Given the description of an element on the screen output the (x, y) to click on. 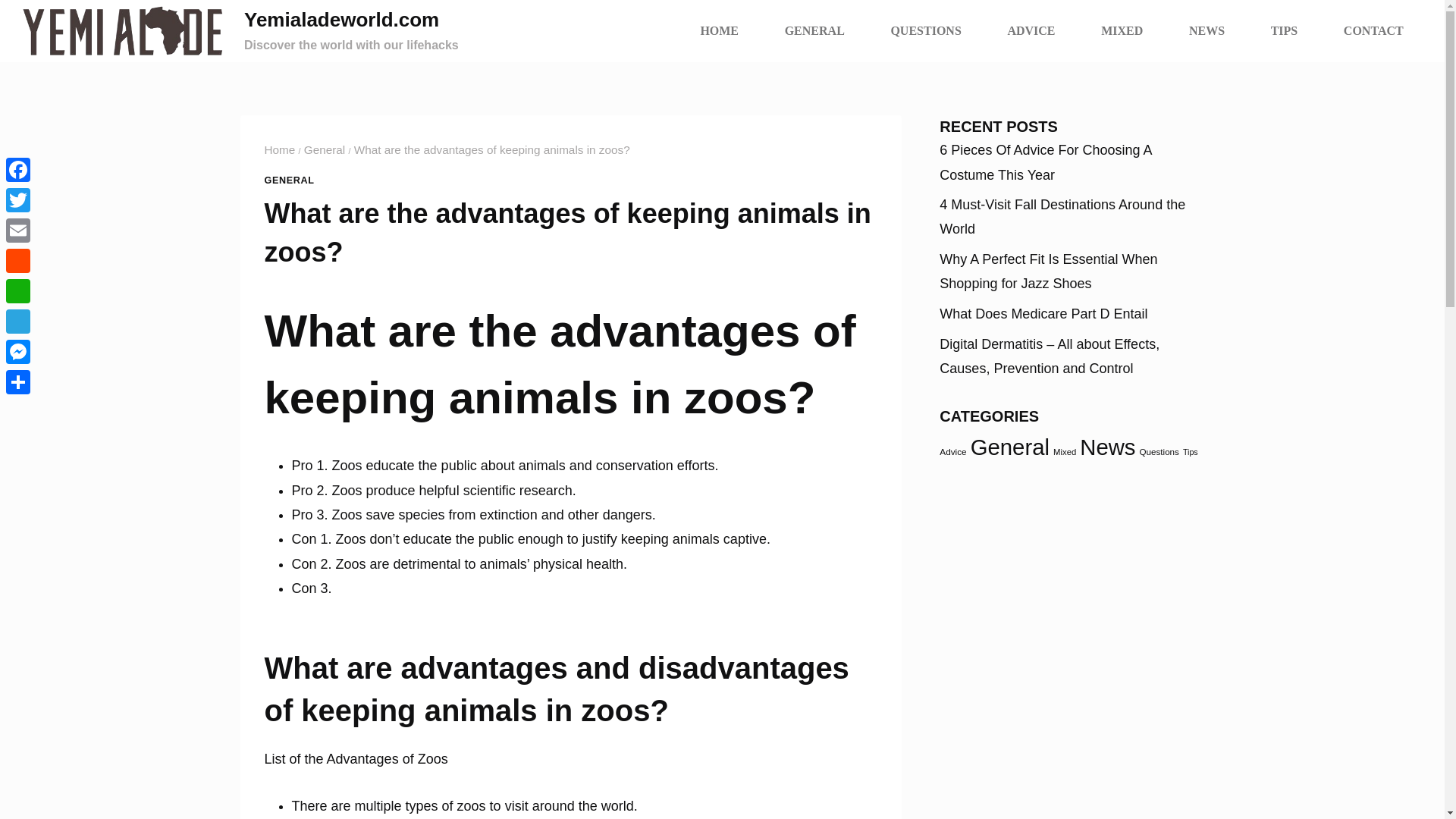
Why A Perfect Fit Is Essential When Shopping for Jazz Shoes (1048, 271)
General (324, 149)
Home (279, 149)
GENERAL (288, 180)
WhatsApp (17, 291)
6 Pieces Of Advice For Choosing A Costume This Year (1045, 161)
TIPS (1283, 30)
Messenger (17, 351)
QUESTIONS (925, 30)
Facebook (17, 169)
